Given the description of an element on the screen output the (x, y) to click on. 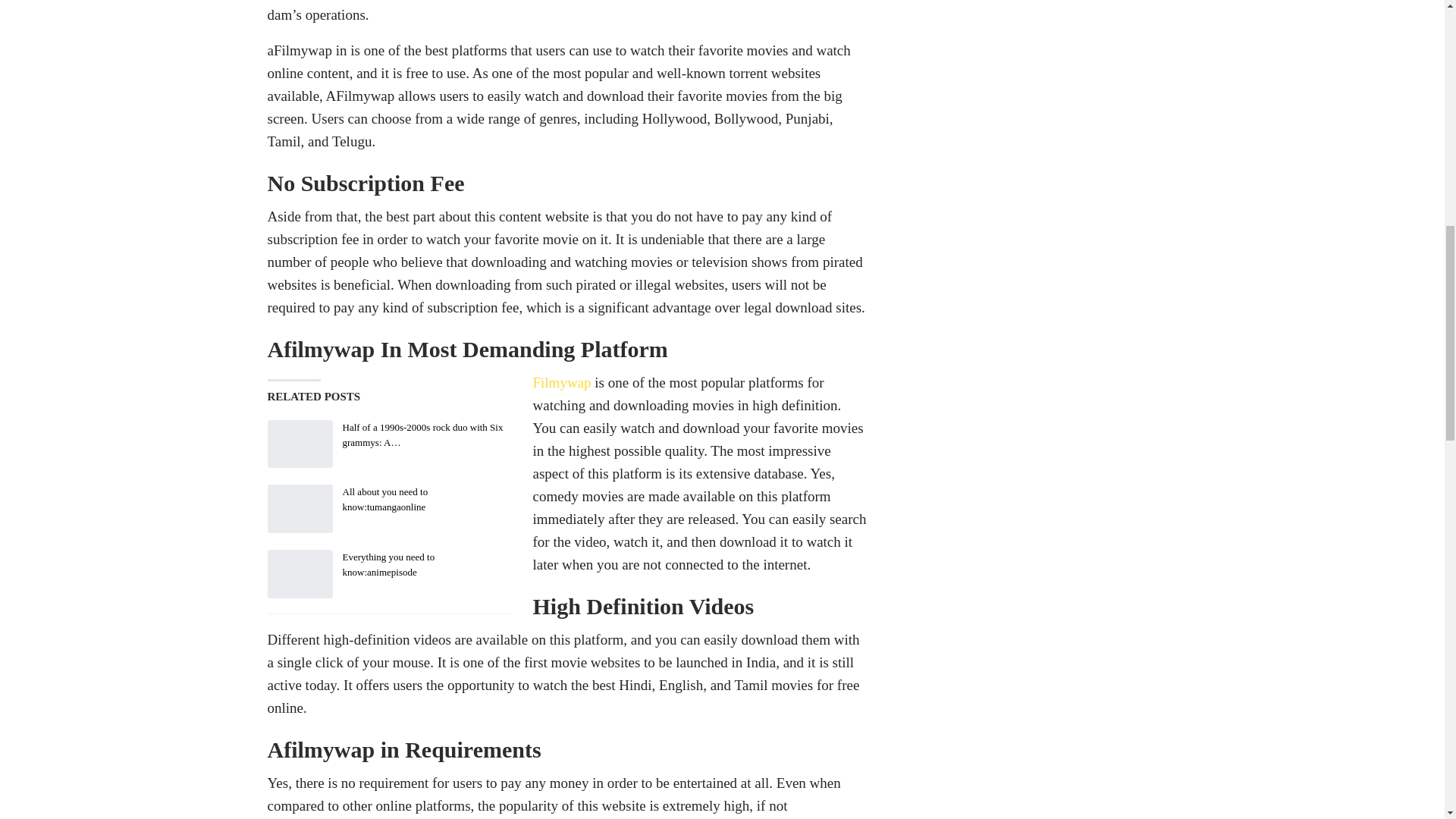
All about you need to know:tumangaonline (298, 508)
Everything you need to know:animepisode (298, 573)
